Given the description of an element on the screen output the (x, y) to click on. 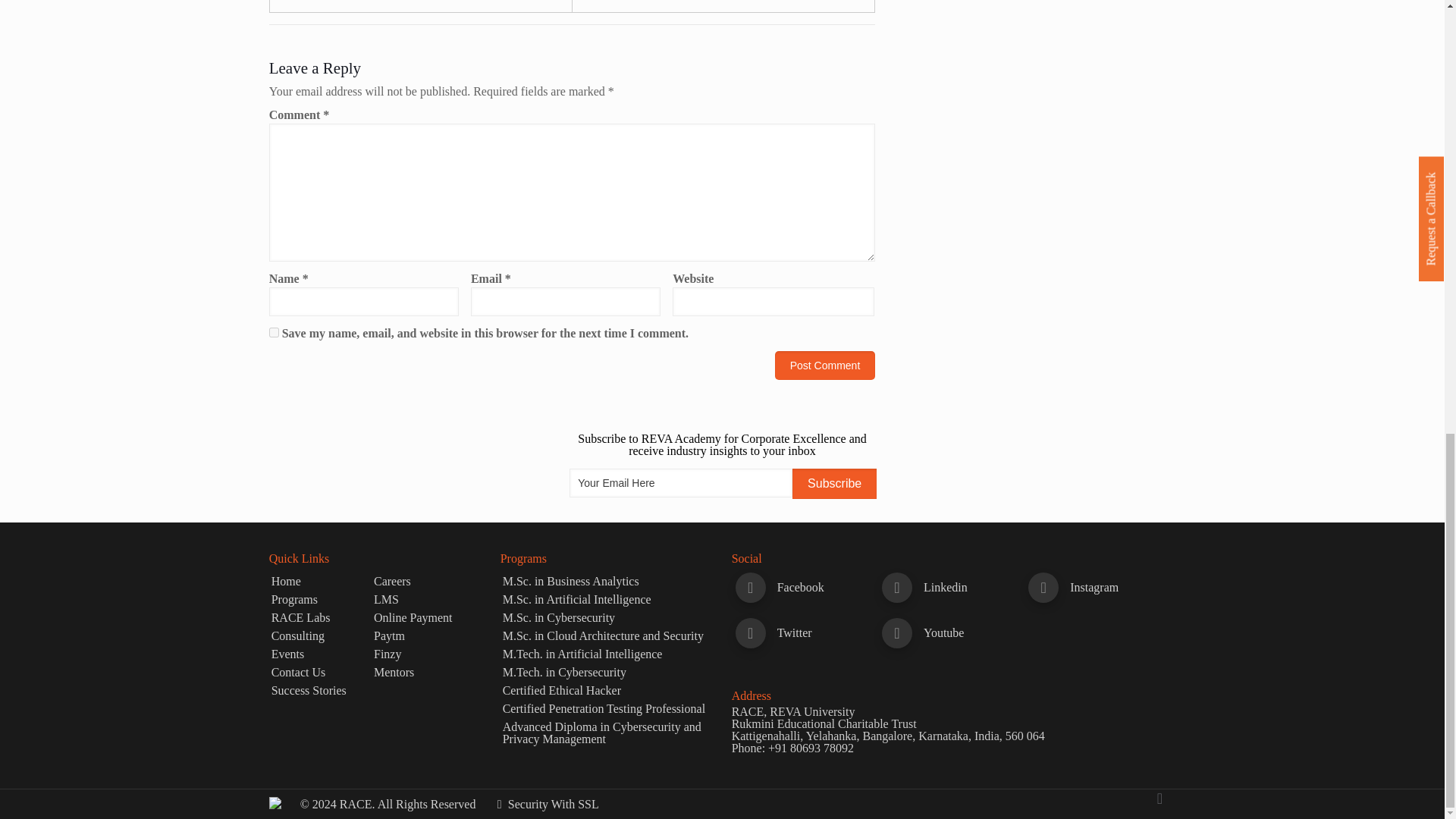
Subscribe (834, 483)
yes (274, 332)
Post Comment (825, 365)
